Given the description of an element on the screen output the (x, y) to click on. 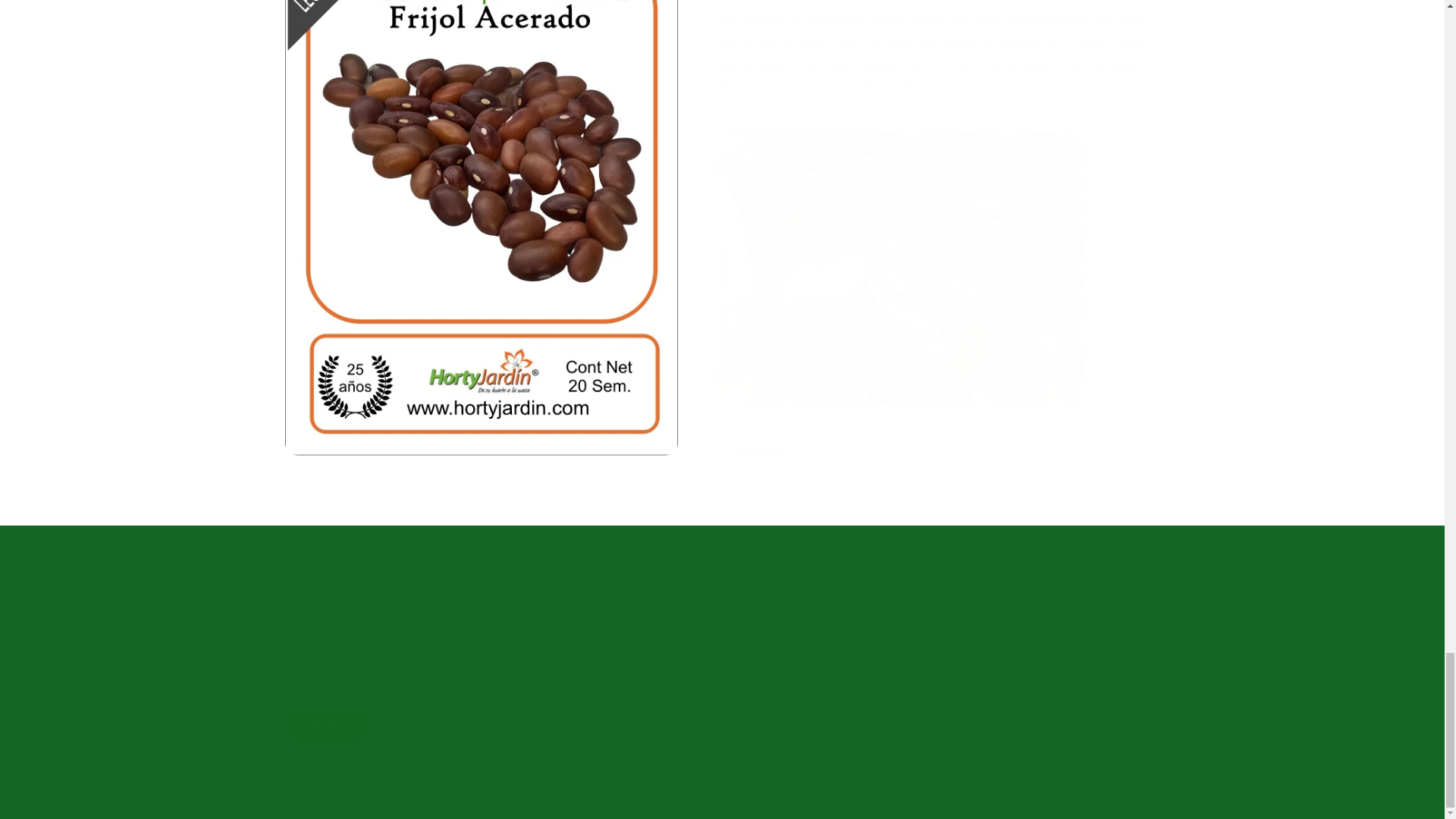
Search Frequent questions Notice of Privacy (721, 587)
Search Frequent questions Notice of Privacy (722, 604)
